Given the description of an element on the screen output the (x, y) to click on. 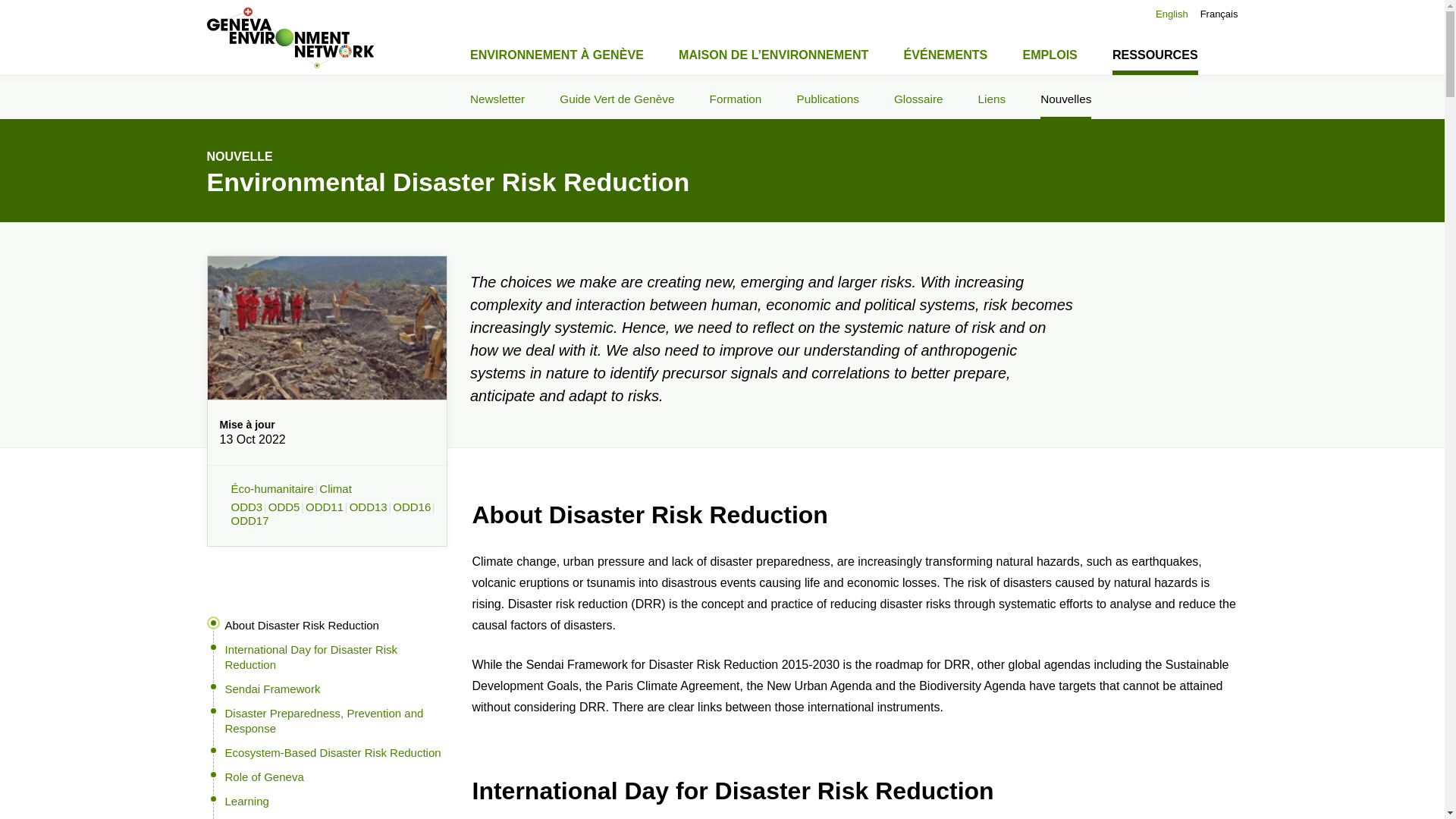
Publications (827, 97)
Formation (735, 97)
Disaster Preparedness, Prevention and Response (323, 725)
EMPLOIS (1049, 52)
Ecosystem-Based Disaster Risk Reduction (332, 752)
Resources (251, 818)
ODD5 (285, 506)
English (1172, 13)
Learning (323, 805)
